Given the description of an element on the screen output the (x, y) to click on. 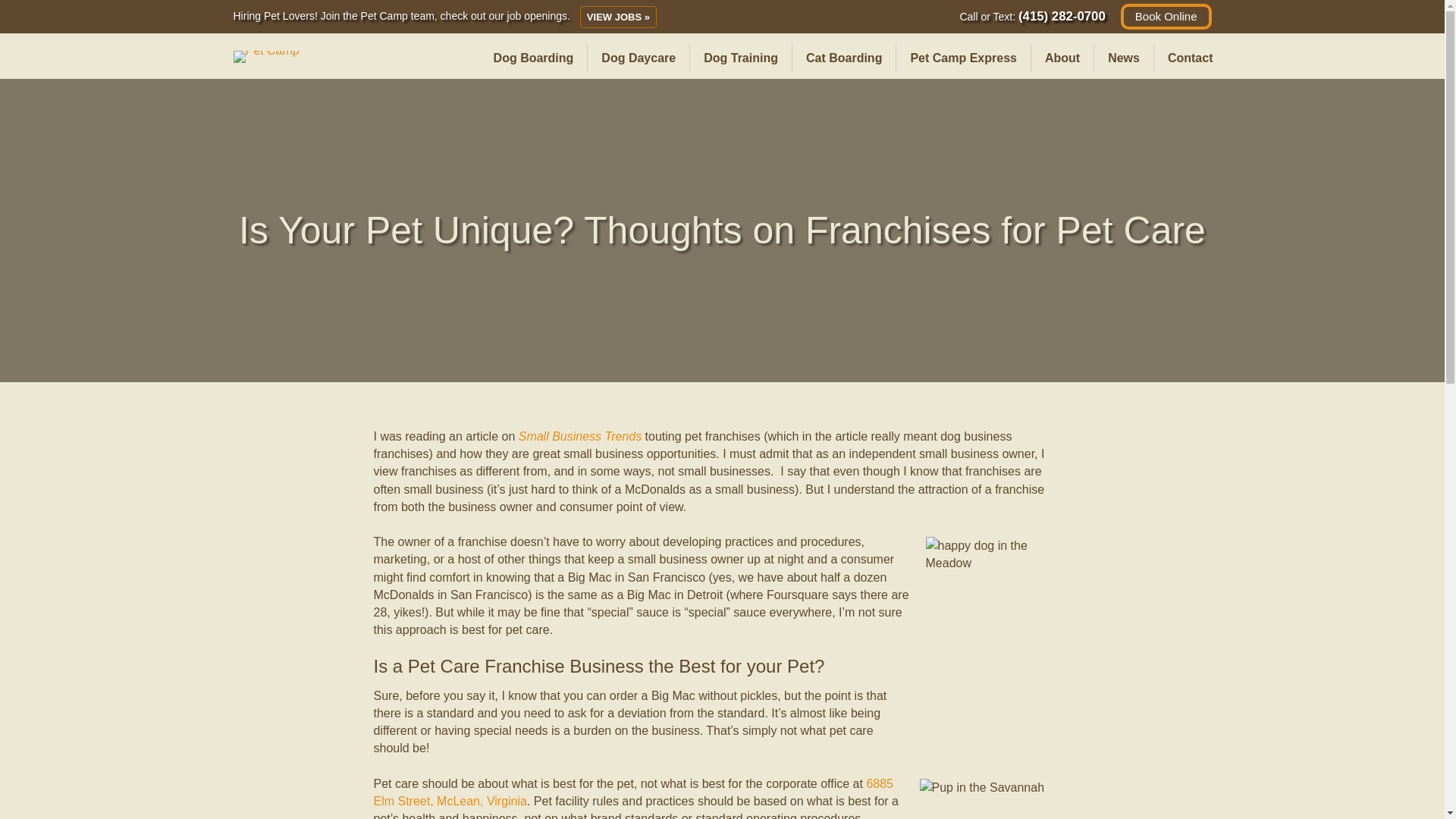
Dog Boarding (534, 58)
Dog Training (741, 58)
Contact (1190, 58)
Dog Daycare (638, 58)
Book Online (1166, 16)
Cat Boarding (843, 58)
Pet-Camp-Logo (265, 55)
News (1123, 58)
About (1061, 58)
Pet Camp Express (963, 58)
